Given the description of an element on the screen output the (x, y) to click on. 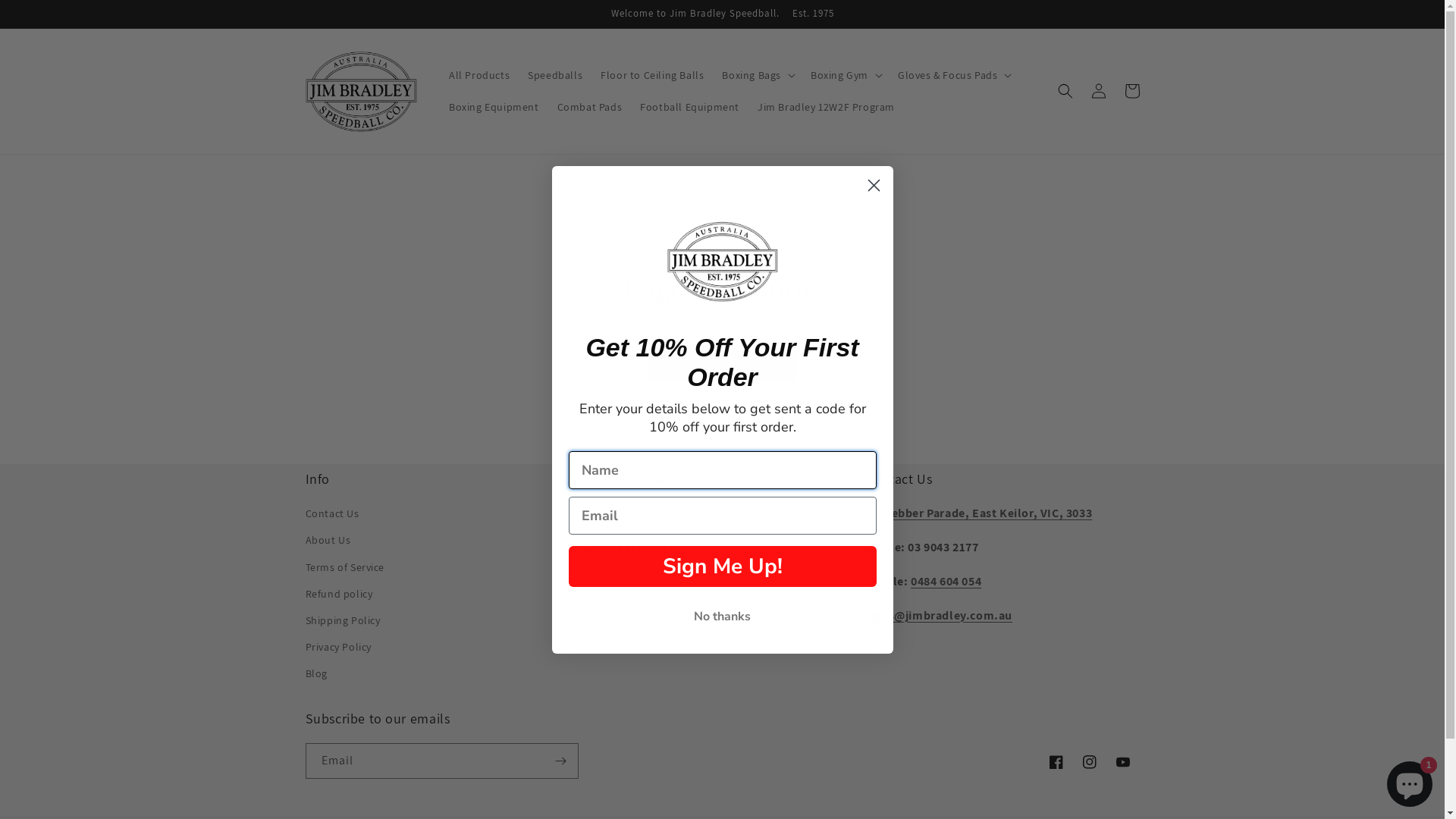
Football Equipment Element type: text (689, 106)
All Products Element type: text (478, 75)
Blog Element type: text (315, 673)
Jim Bradley 12W2F Program Element type: text (825, 106)
45 Webber Parade, East Keilor, VIC, 3033 Element type: text (978, 512)
NZ BOXER Element type: text (614, 615)
Thrasher House Element type: text (629, 547)
Terms of Service Element type: text (344, 567)
About Us Element type: text (327, 540)
Cart Element type: text (1131, 90)
Refund policy Element type: text (338, 593)
Submit Element type: text (21, 7)
Boxing Equipment Element type: text (493, 106)
YouTube Element type: text (1122, 761)
Instagram Element type: text (1088, 761)
Shipping Policy Element type: text (341, 620)
Floor to Ceiling Balls Element type: text (651, 75)
Combat Pads Element type: text (589, 106)
Speedballs Element type: text (554, 75)
Facebook Element type: text (1055, 761)
Privacy Policy Element type: text (337, 646)
Shopify online store chat Element type: hover (1409, 780)
Contact Us Element type: text (331, 515)
Close dialog 1 Element type: text (872, 184)
sales@jimbradley.com.au Element type: text (938, 615)
0484 604 054 Element type: text (945, 581)
No thanks Element type: text (722, 616)
Log in Element type: text (1097, 90)
Sign Me Up! Element type: text (722, 566)
Continue shopping Element type: text (722, 362)
